Given the description of an element on the screen output the (x, y) to click on. 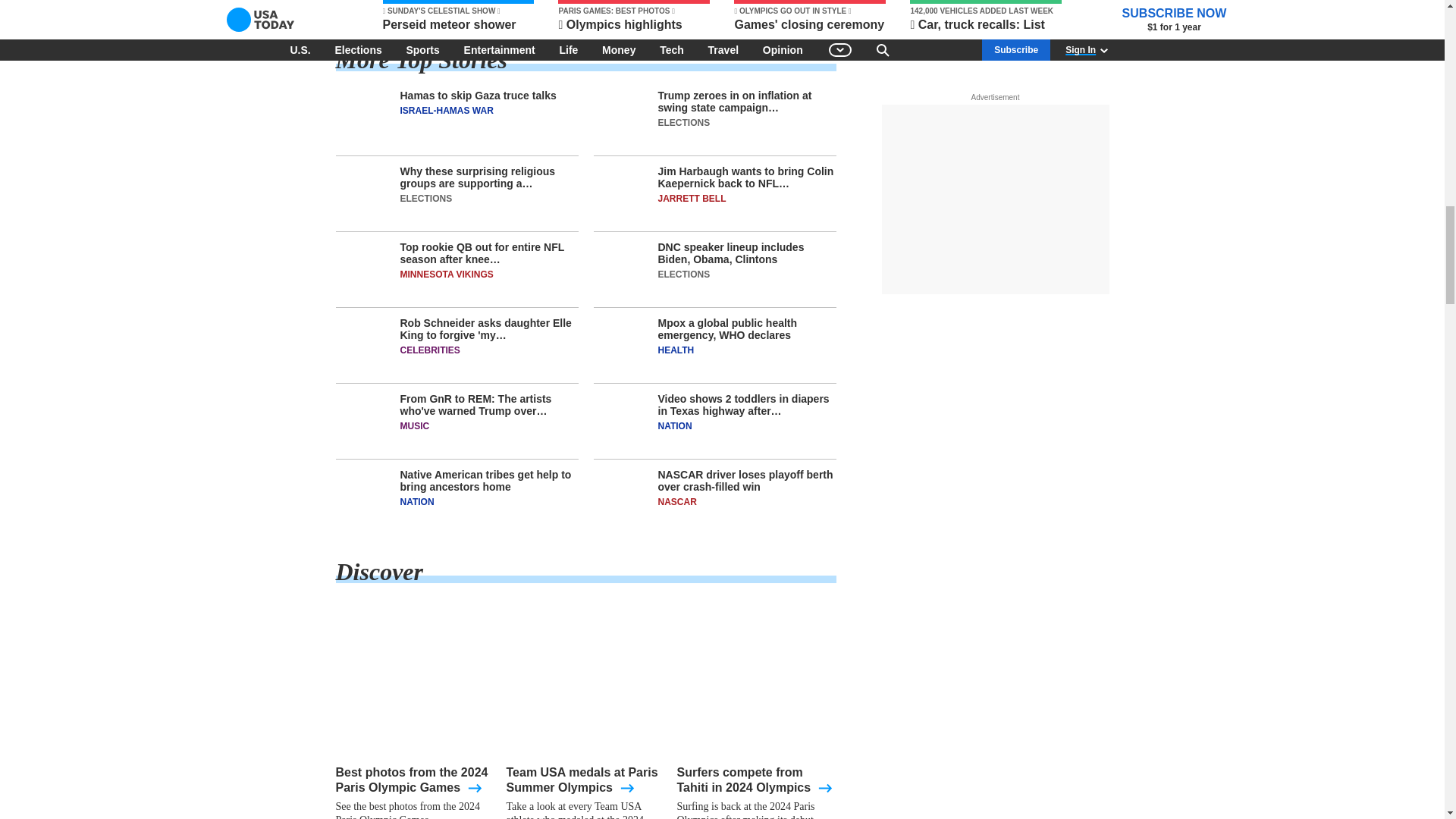
Top rookie QB out for entire NFL season after knee surgery (456, 273)
